Given the description of an element on the screen output the (x, y) to click on. 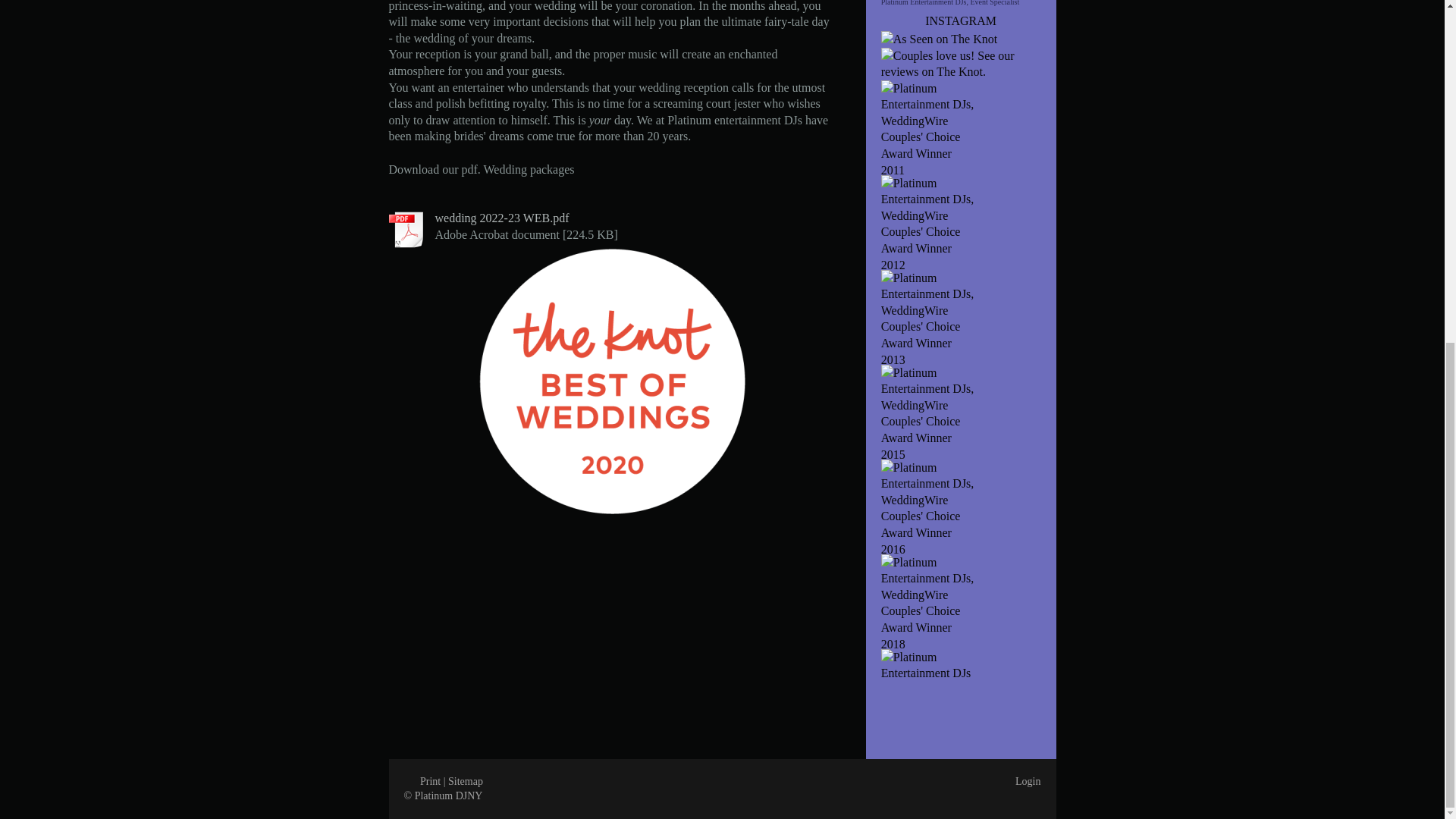
WeddingWire Couples' Choice Award Winner 2019 (960, 696)
